Given the description of an element on the screen output the (x, y) to click on. 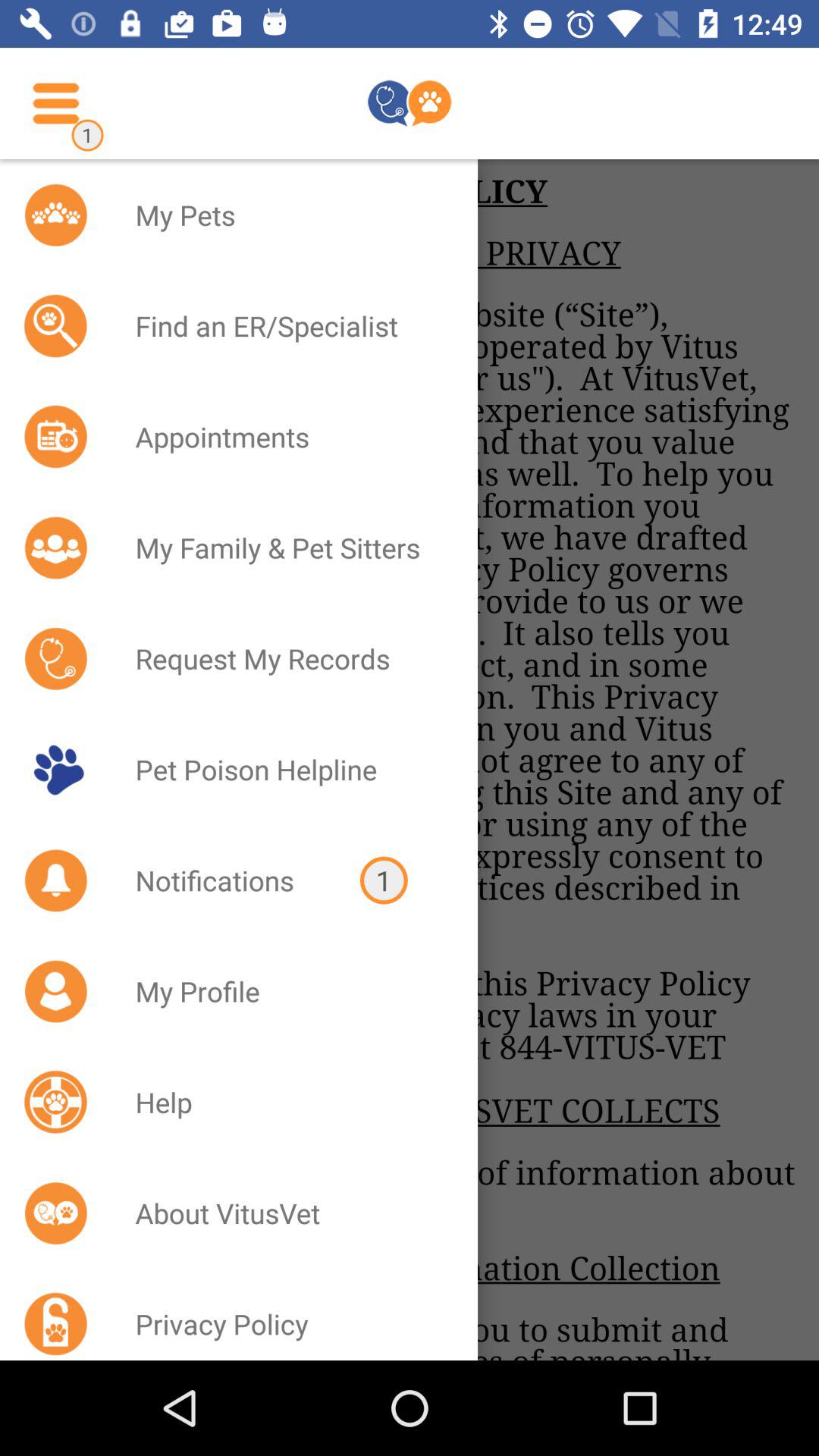
press the my pets icon (286, 214)
